Given the description of an element on the screen output the (x, y) to click on. 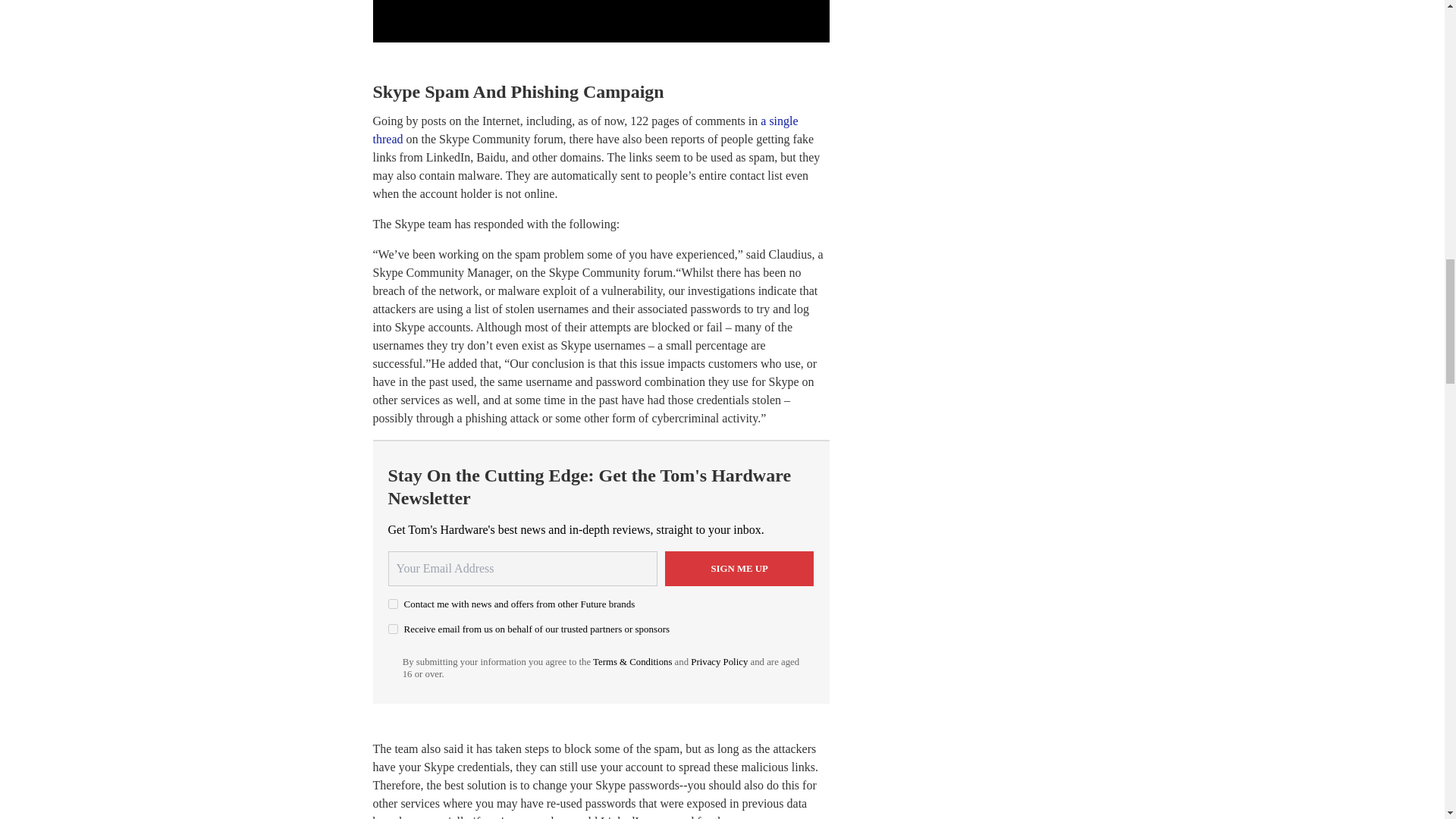
Sign me up (739, 568)
on (392, 603)
on (392, 628)
